Given the description of an element on the screen output the (x, y) to click on. 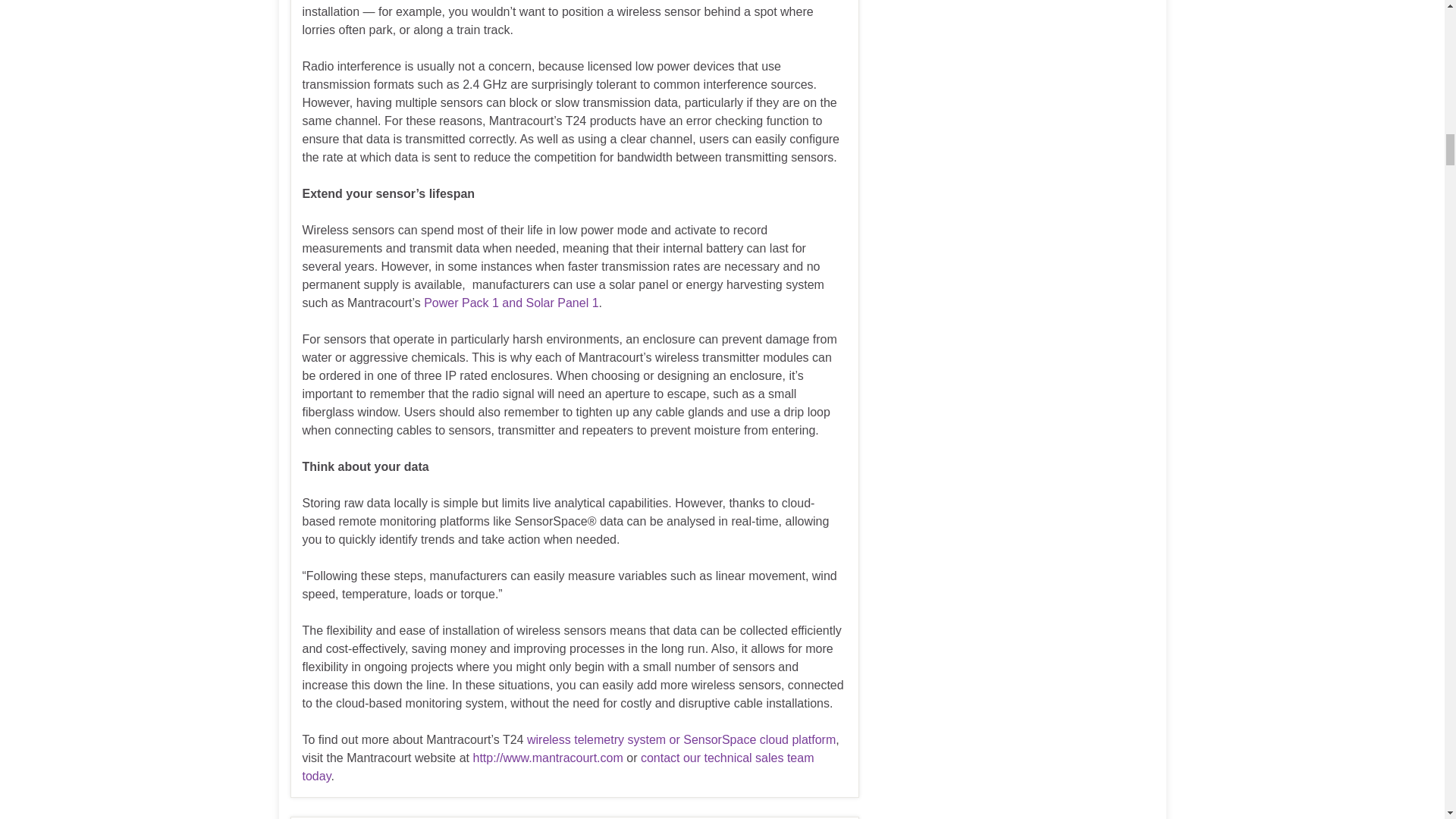
wireless telemetry system or SensorSpace cloud platform (681, 739)
Power Pack 1 and Solar Panel 1 (510, 302)
contact our technical sales team today (557, 766)
